Given the description of an element on the screen output the (x, y) to click on. 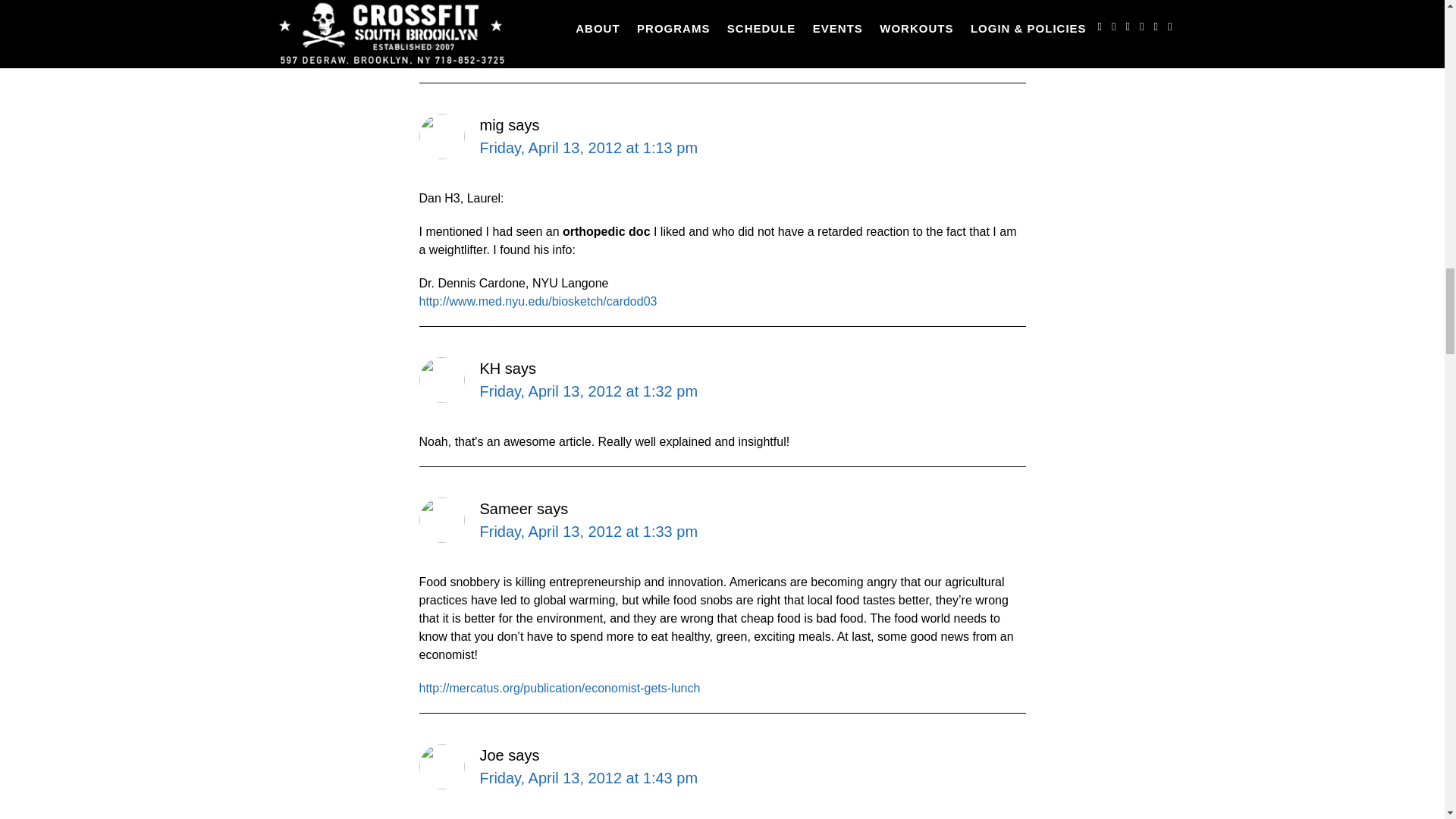
Friday, April 13, 2012 at 1:33 pm (588, 531)
Friday, April 13, 2012 at 1:13 pm (588, 147)
Friday, April 13, 2012 at 11:47 am (592, 7)
Friday, April 13, 2012 at 1:43 pm (588, 777)
Friday, April 13, 2012 at 1:32 pm (588, 391)
